Given the description of an element on the screen output the (x, y) to click on. 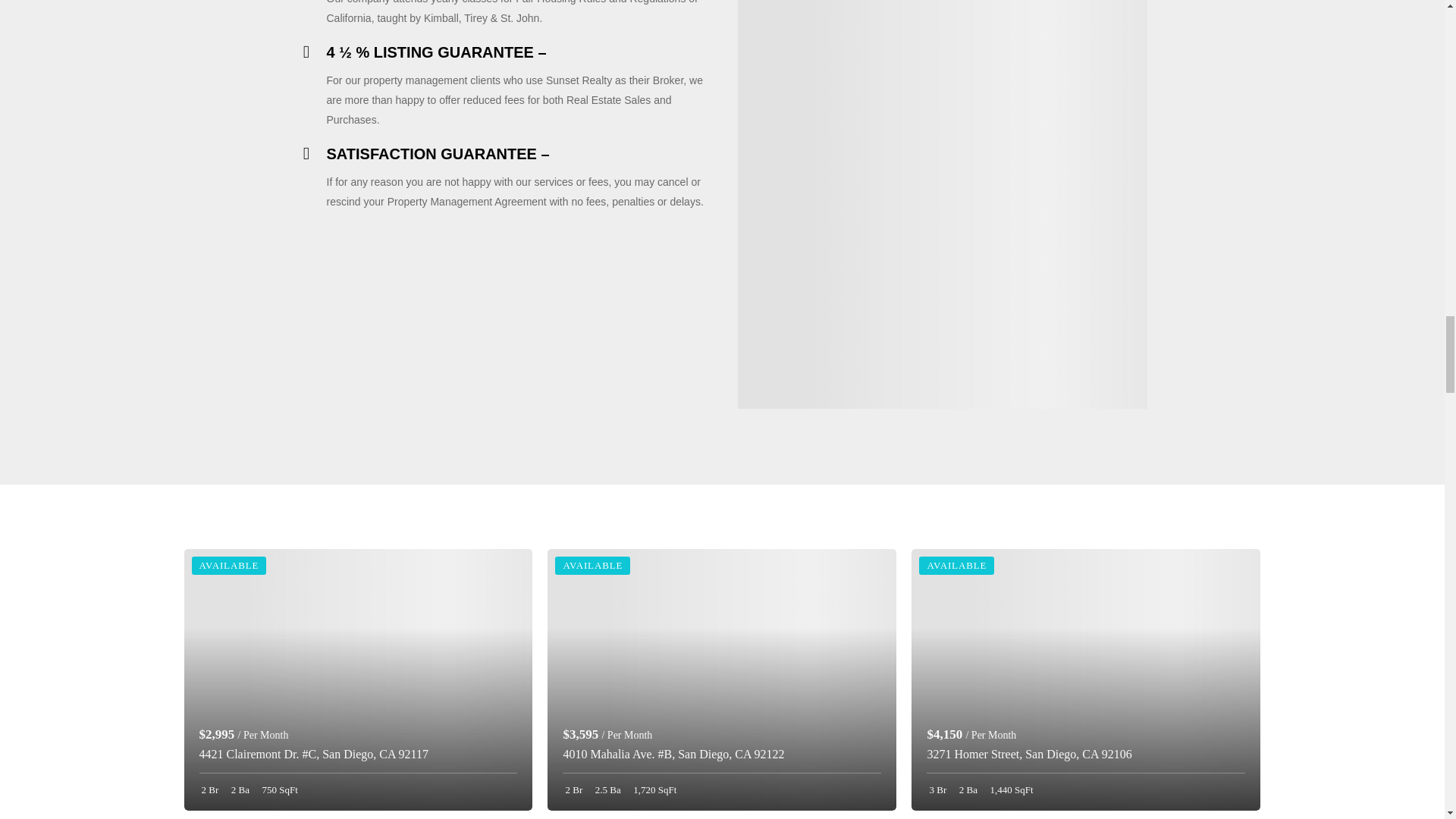
3271 Homer Street, San Diego, CA 92106 (1028, 753)
Bathrooms (606, 789)
Size (653, 789)
3271 Homer Street, San Diego, CA 92106 (1085, 679)
Size (278, 789)
